Given the description of an element on the screen output the (x, y) to click on. 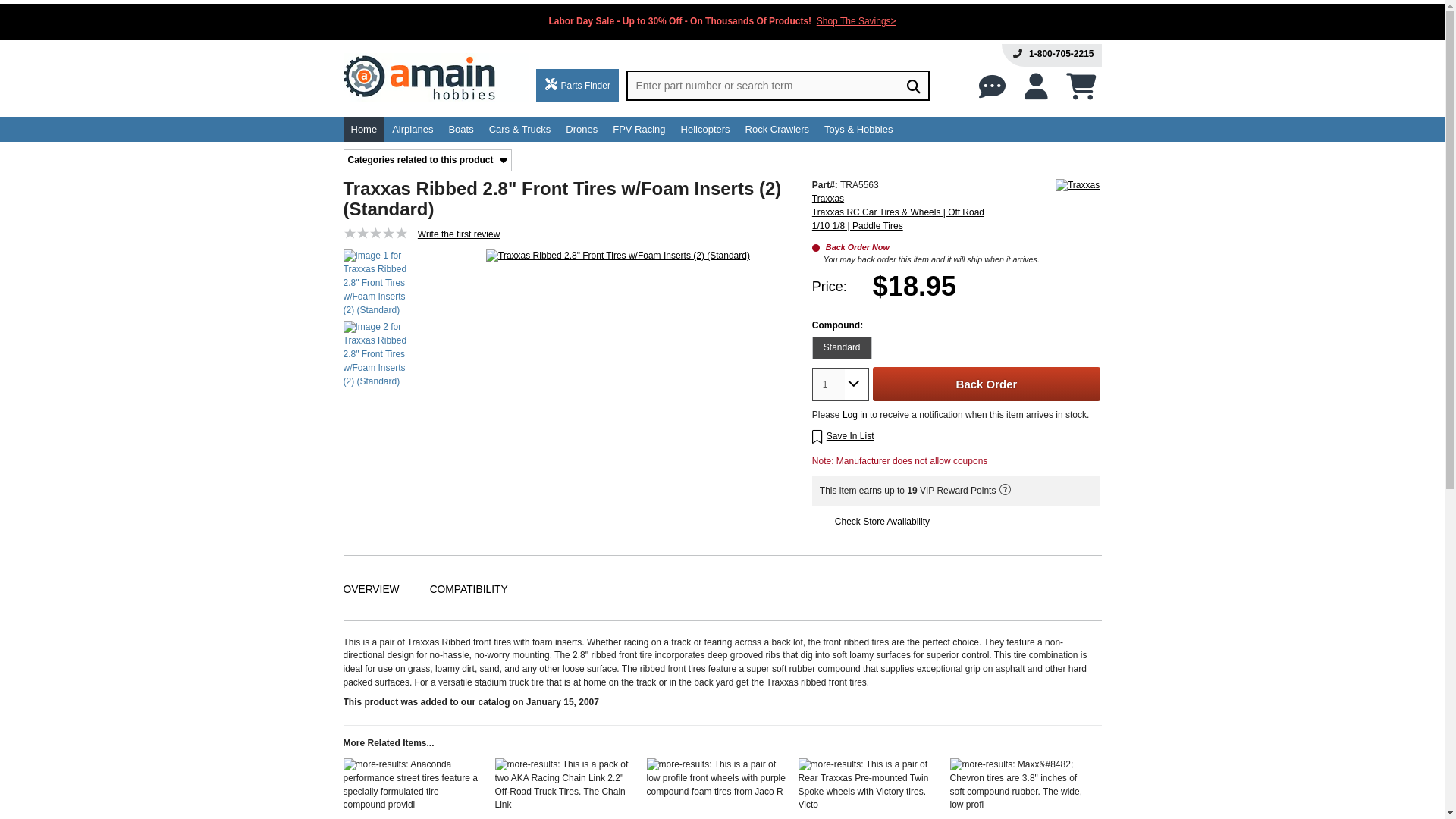
Parts Finder (576, 84)
My Account (1036, 85)
Click to Check Store Availability (882, 522)
Contact Us (992, 85)
Home (363, 129)
1-800-705-2215 (1061, 53)
1 (828, 383)
AMain Hobbies (435, 80)
